Given the description of an element on the screen output the (x, y) to click on. 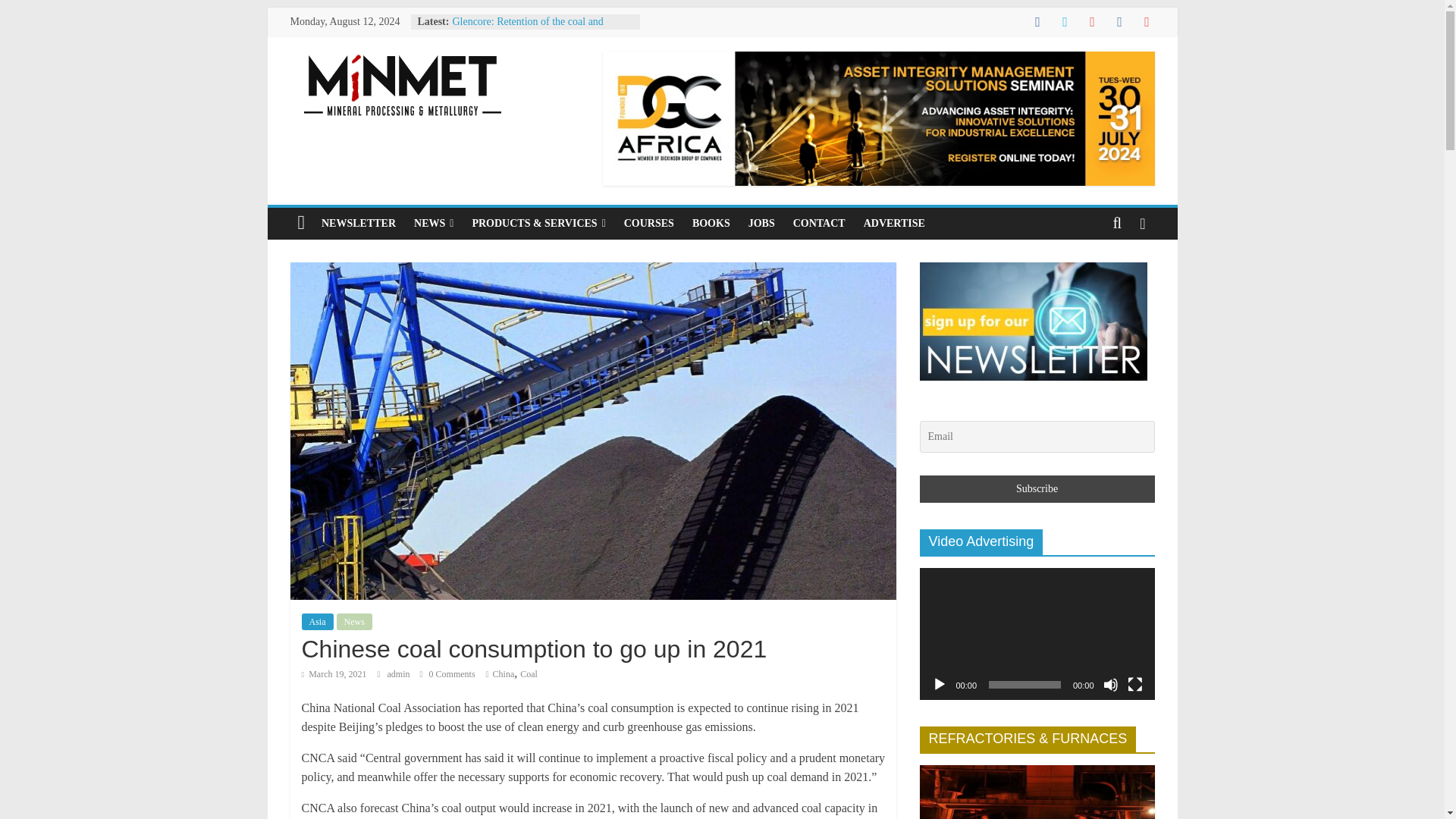
March 19, 2021 (333, 674)
07:25 (333, 674)
JOBS (761, 223)
BOOKS (710, 223)
Subscribe (1036, 488)
News (354, 621)
ADVERTISE (894, 223)
NEWSLETTER (358, 223)
